Given the description of an element on the screen output the (x, y) to click on. 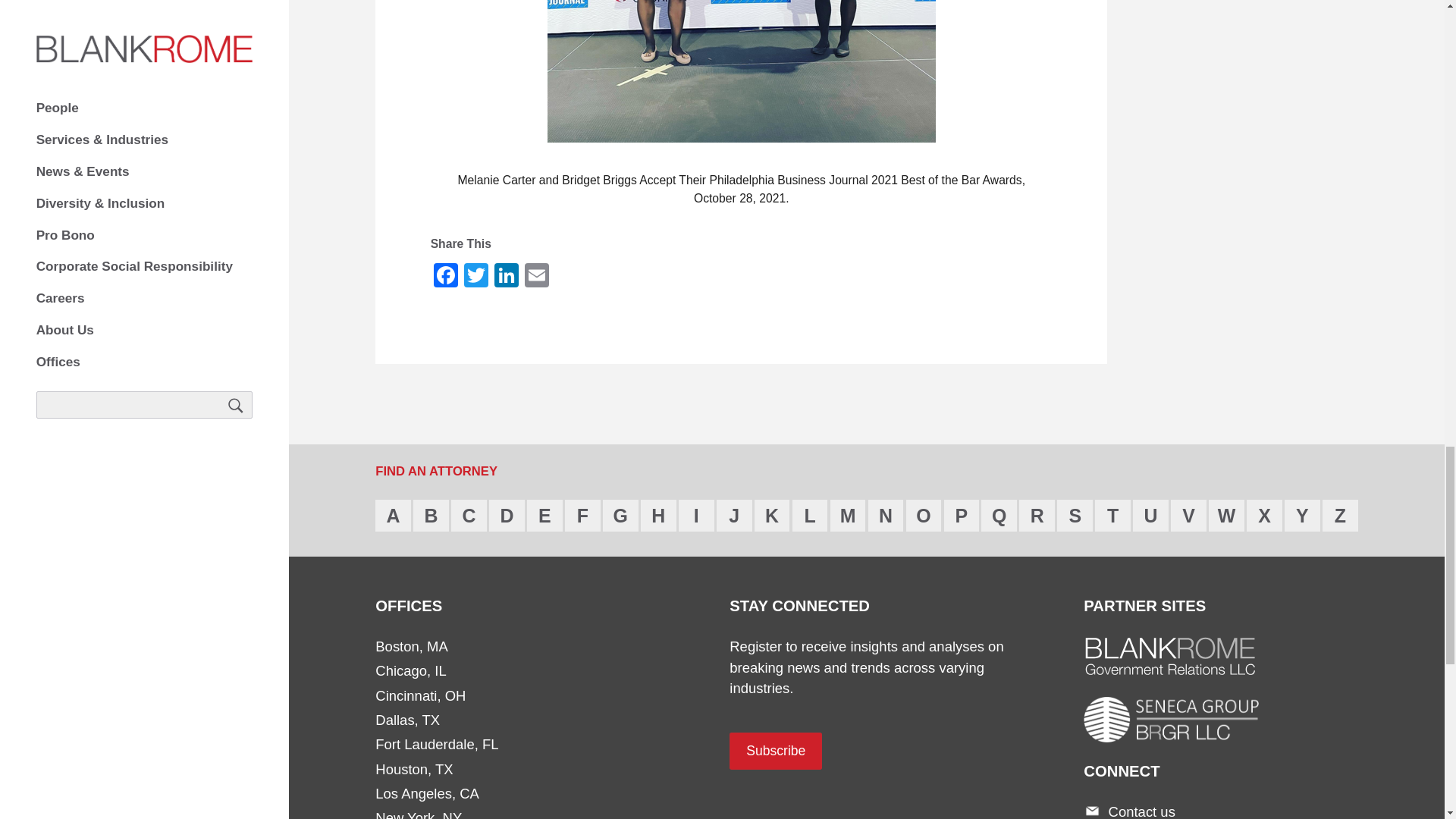
B (430, 515)
Twitter (476, 274)
Facebook (445, 274)
LinkedIn (506, 274)
Email (536, 274)
A (392, 515)
